Given the description of an element on the screen output the (x, y) to click on. 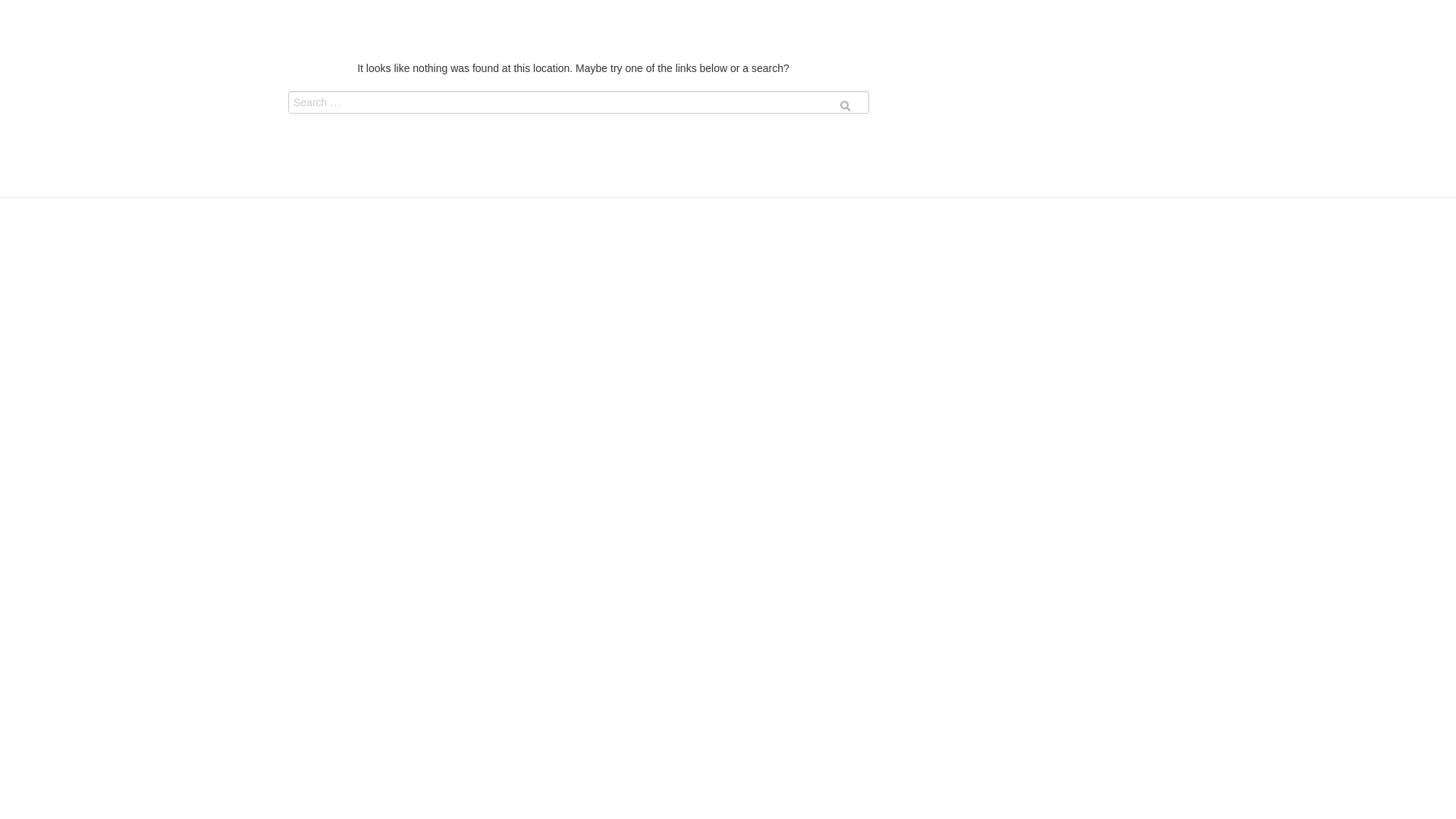
Search Element type: text (28, 15)
